Given the description of an element on the screen output the (x, y) to click on. 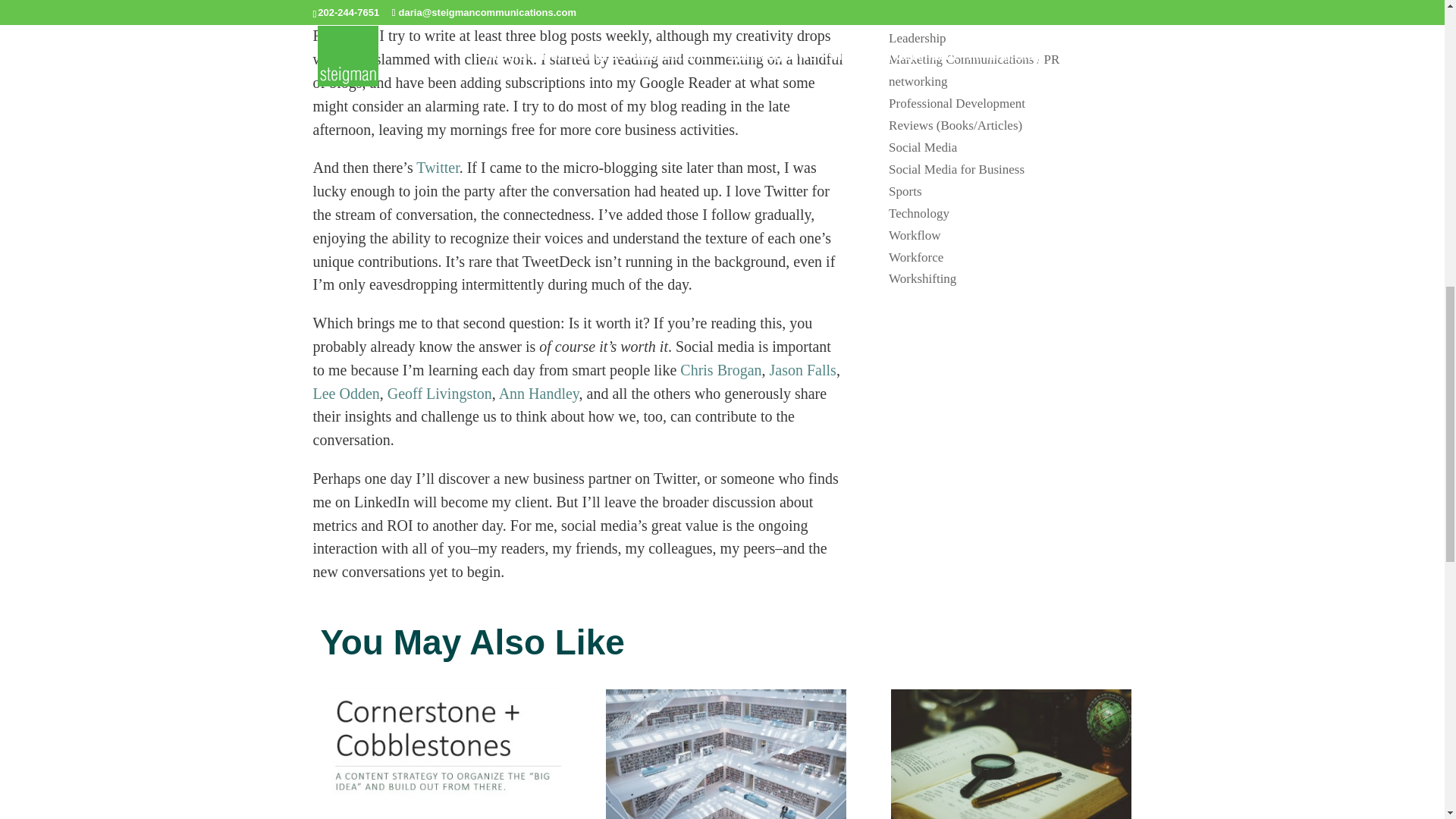
Geoff Livingston (439, 393)
Lee Odden (345, 393)
Jason Falls (802, 369)
Independent Thinking (945, 0)
Twitter (437, 167)
Leadership (917, 38)
Professional Development (956, 103)
Lee Odden (345, 393)
Chris Brogan (720, 369)
networking (917, 81)
